Given the description of an element on the screen output the (x, y) to click on. 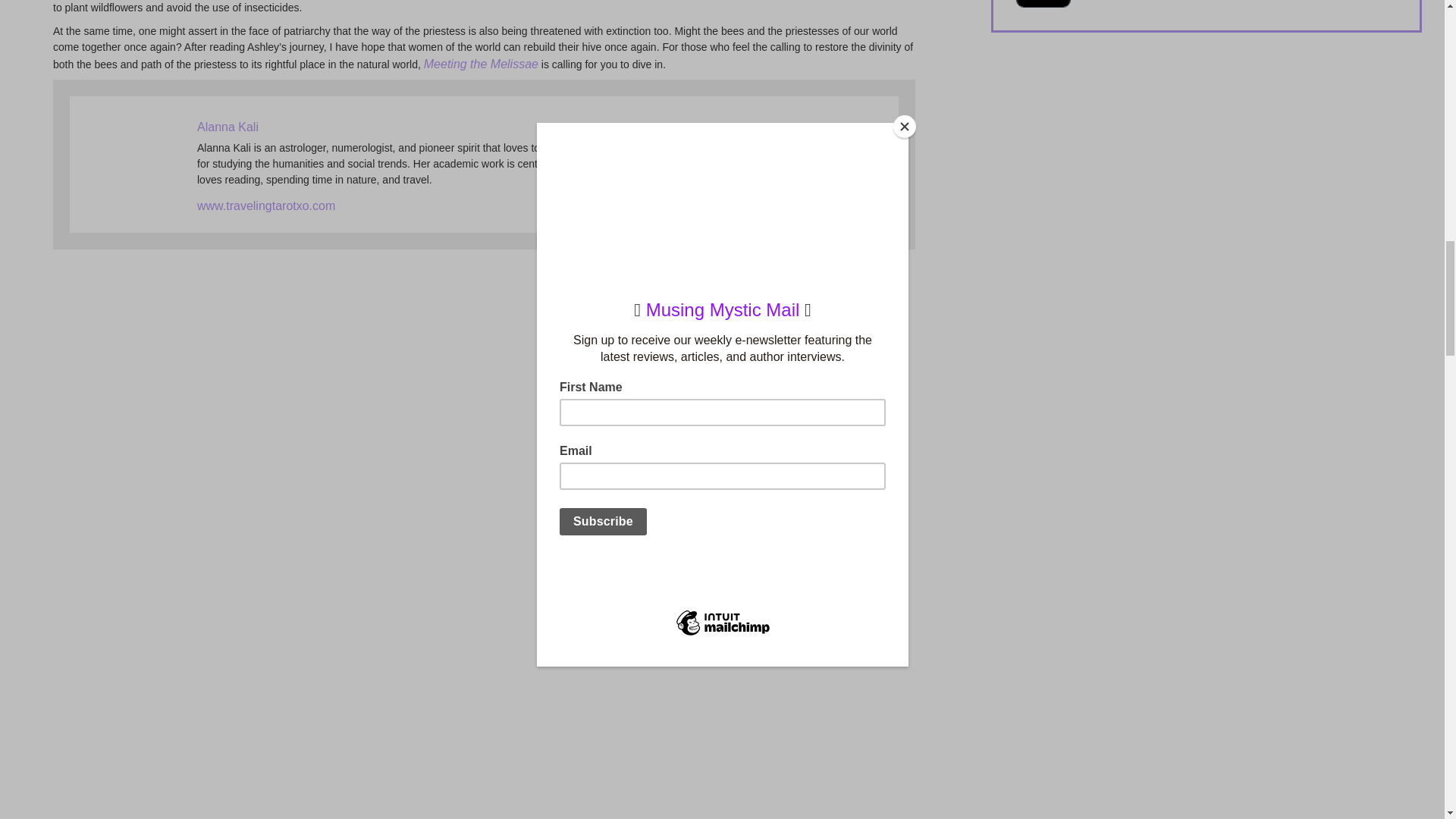
Meeting the Melissae (480, 63)
Search (1043, 3)
www.travelingtarotxo.com (265, 205)
Alanna Kali (227, 126)
